Given the description of an element on the screen output the (x, y) to click on. 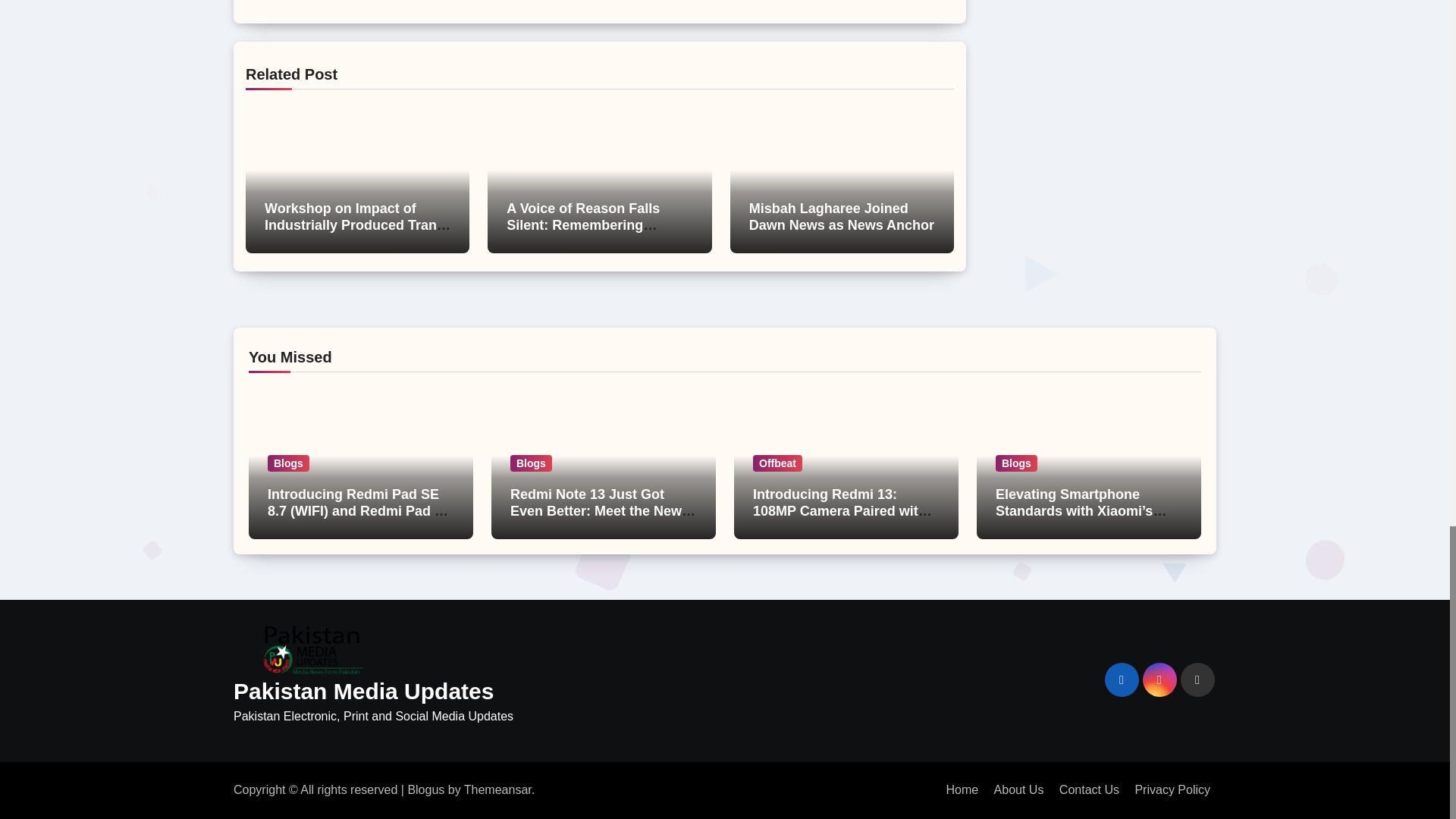
Home (961, 789)
Misbah Lagharee Joined Dawn News as News Anchor (841, 216)
